Given the description of an element on the screen output the (x, y) to click on. 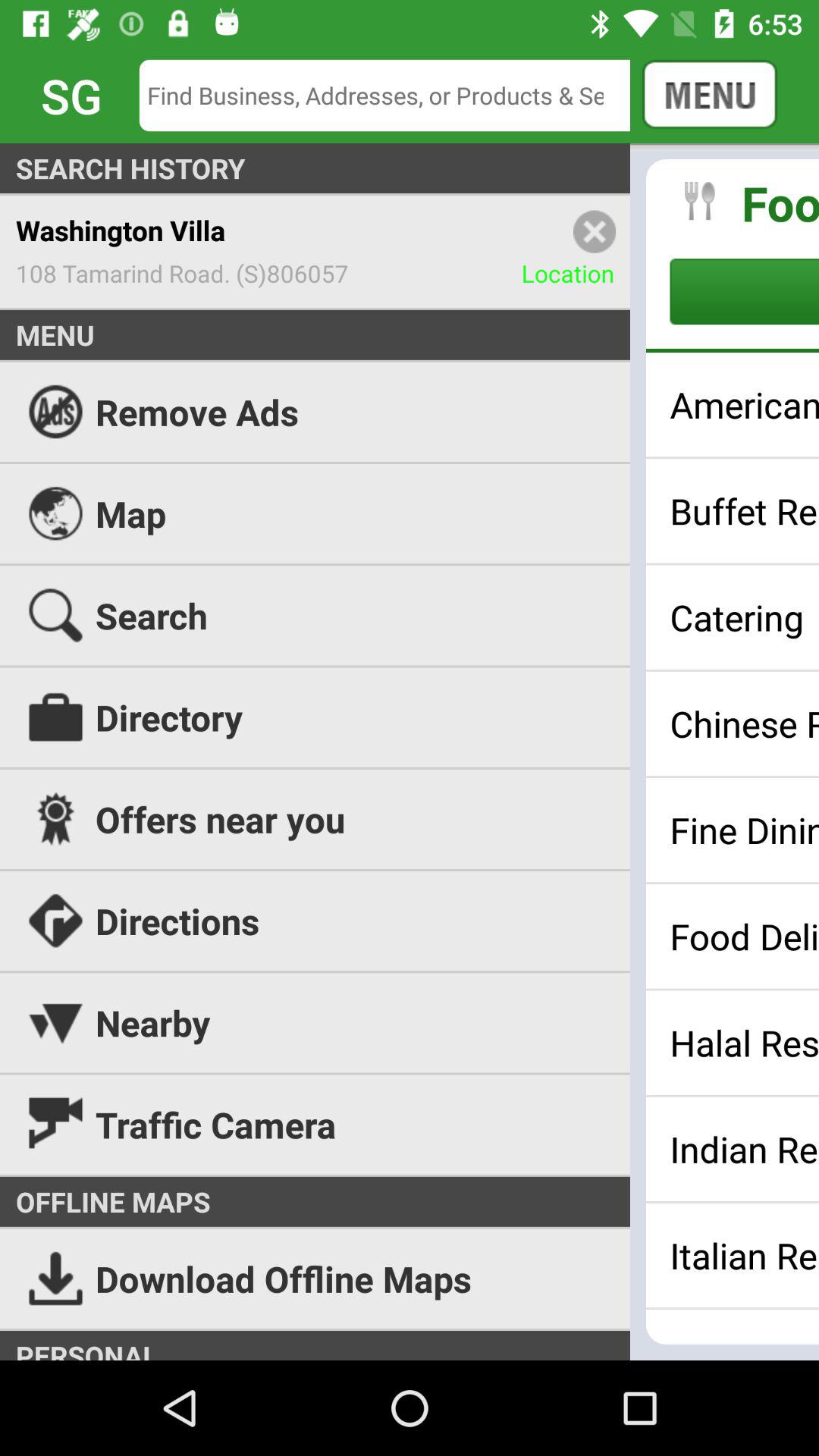
choose the american restaurants item (744, 404)
